Given the description of an element on the screen output the (x, y) to click on. 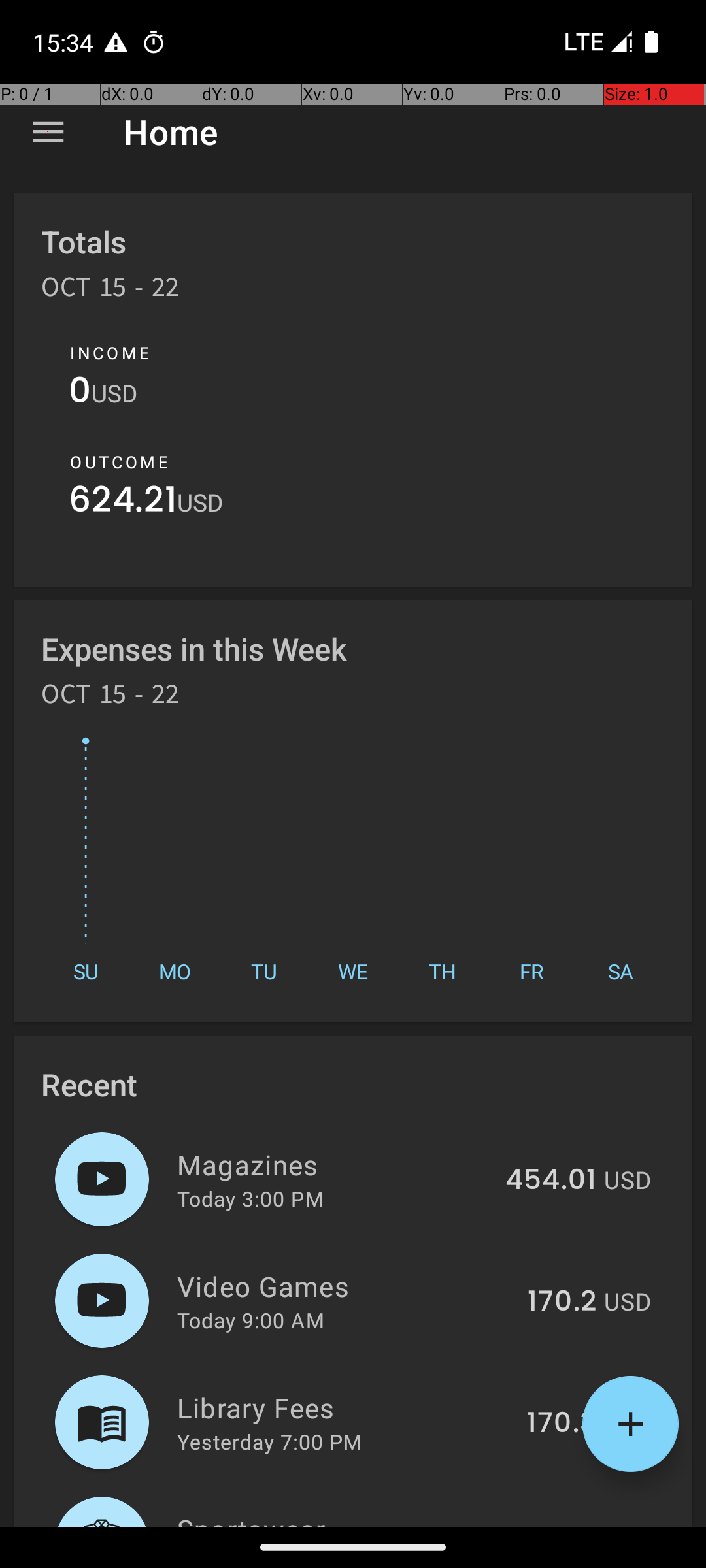
624.21 Element type: android.widget.TextView (122, 502)
Magazines Element type: android.widget.TextView (333, 1164)
Today 3:00 PM Element type: android.widget.TextView (250, 1198)
454.01 Element type: android.widget.TextView (550, 1180)
Video Games Element type: android.widget.TextView (344, 1285)
Today 9:00 AM Element type: android.widget.TextView (250, 1320)
170.2 Element type: android.widget.TextView (561, 1301)
Library Fees Element type: android.widget.TextView (344, 1407)
Yesterday 7:00 PM Element type: android.widget.TextView (269, 1441)
170.3 Element type: android.widget.TextView (561, 1423)
Sportswear Element type: android.widget.TextView (331, 1518)
235.48 Element type: android.widget.TextView (548, 1524)
